Given the description of an element on the screen output the (x, y) to click on. 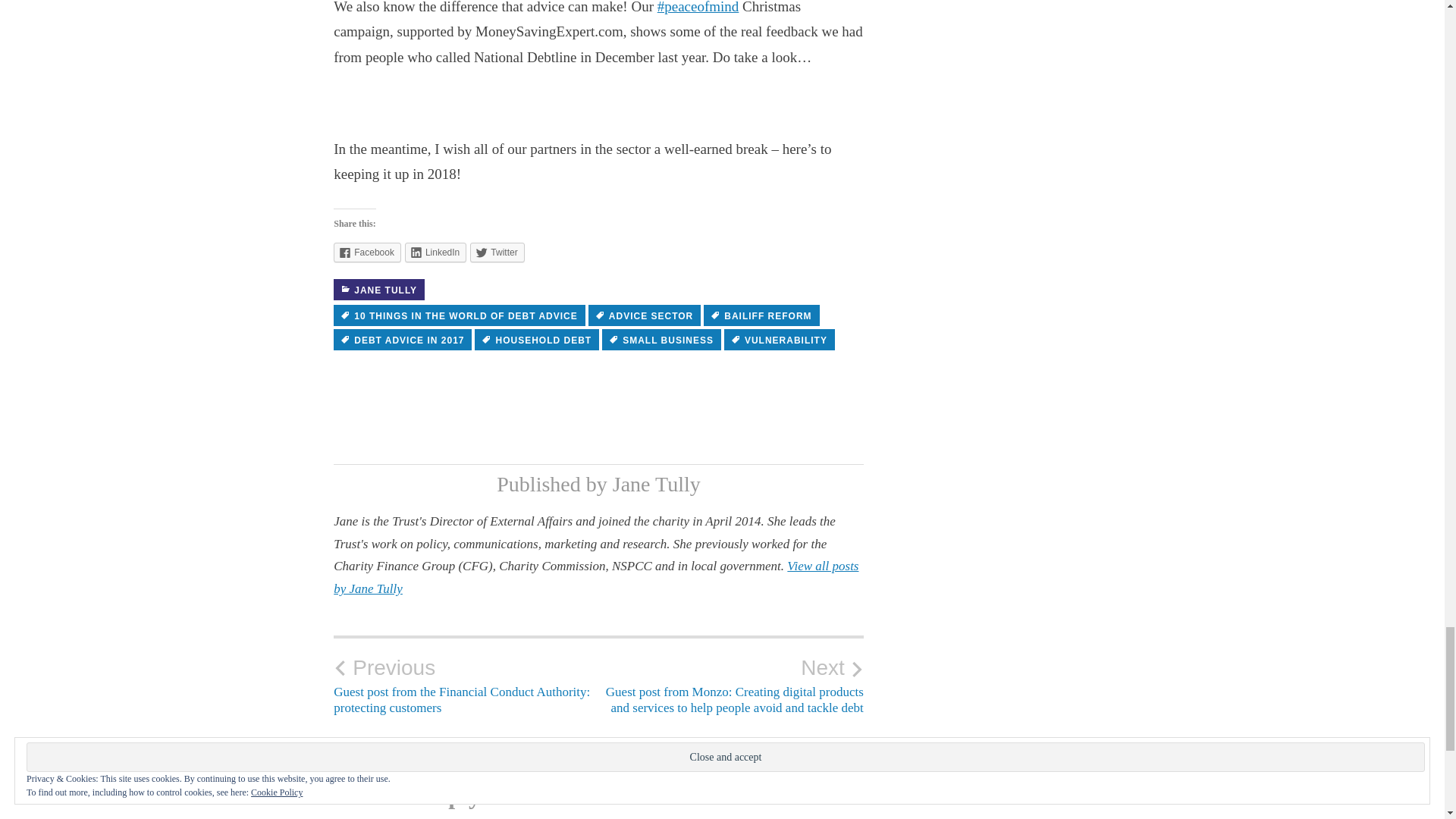
Click to share on Twitter (497, 252)
Facebook (367, 252)
Click to share on Facebook (367, 252)
Click to share on LinkedIn (434, 252)
